Given the description of an element on the screen output the (x, y) to click on. 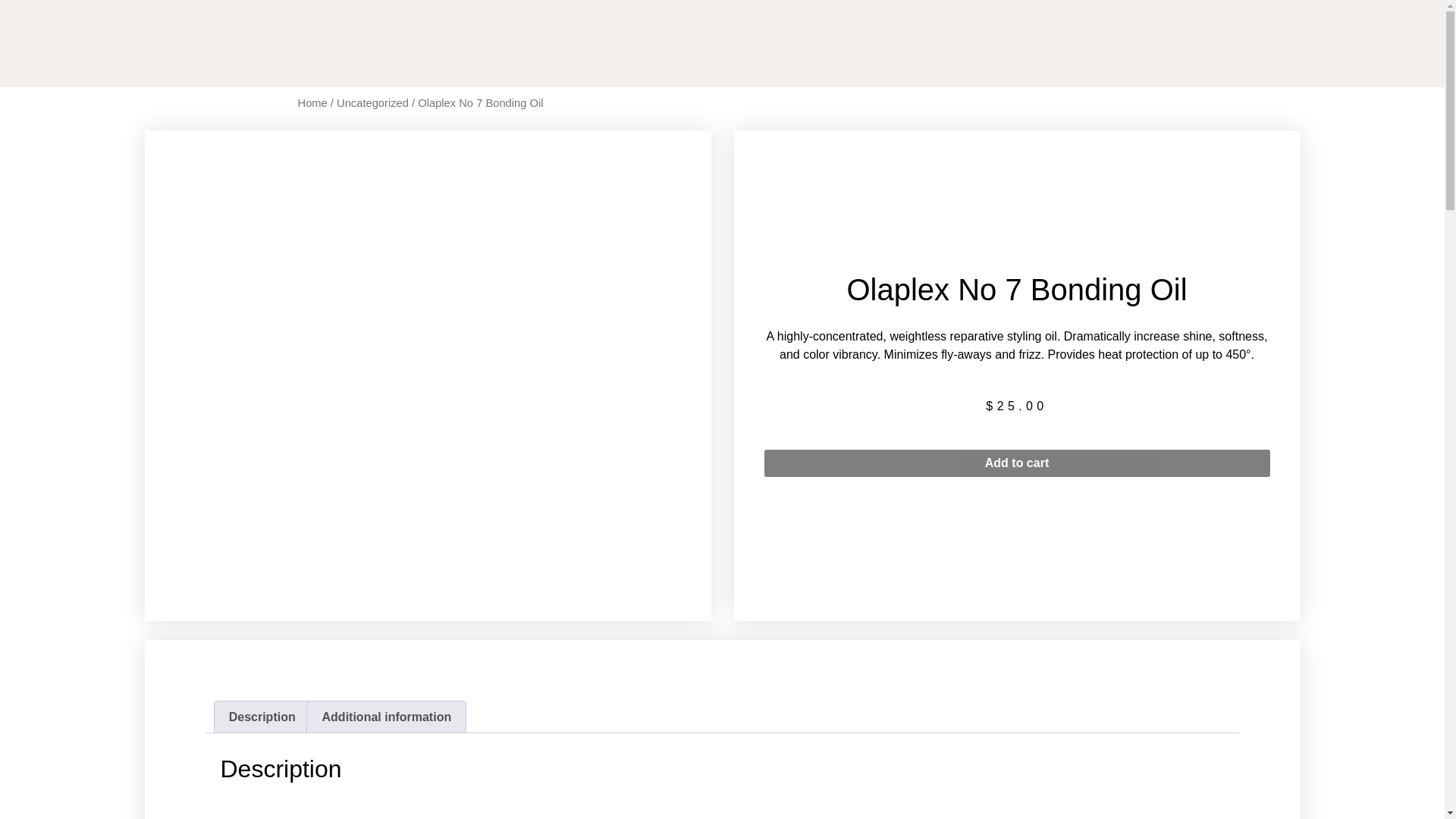
Home (311, 102)
Uncategorized (372, 102)
Additional information (386, 717)
Description (261, 717)
Add to cart (1016, 462)
